Given the description of an element on the screen output the (x, y) to click on. 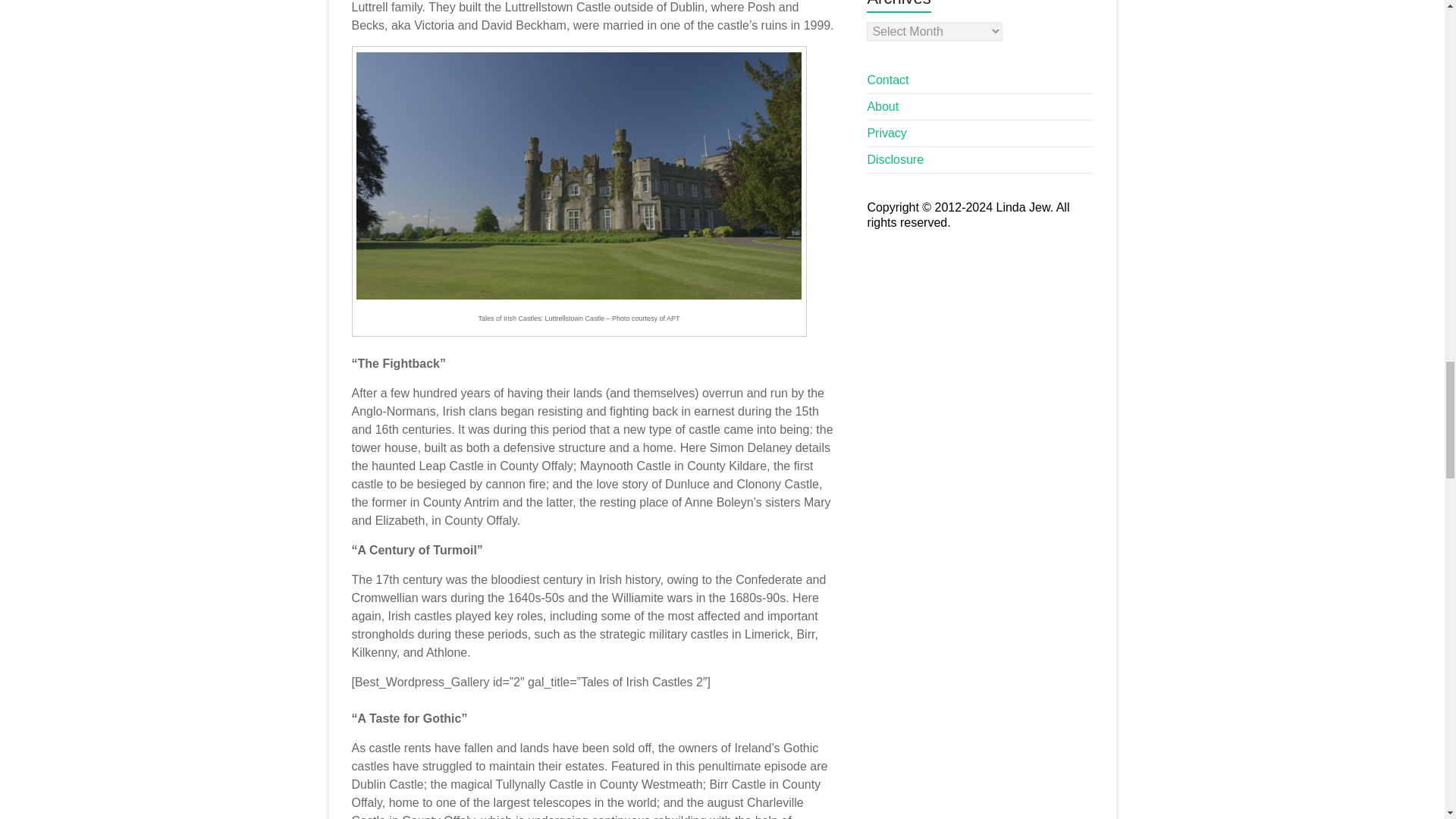
About The British TV Place (882, 106)
Privacy (885, 132)
Contact The British TV Place (887, 79)
